Given the description of an element on the screen output the (x, y) to click on. 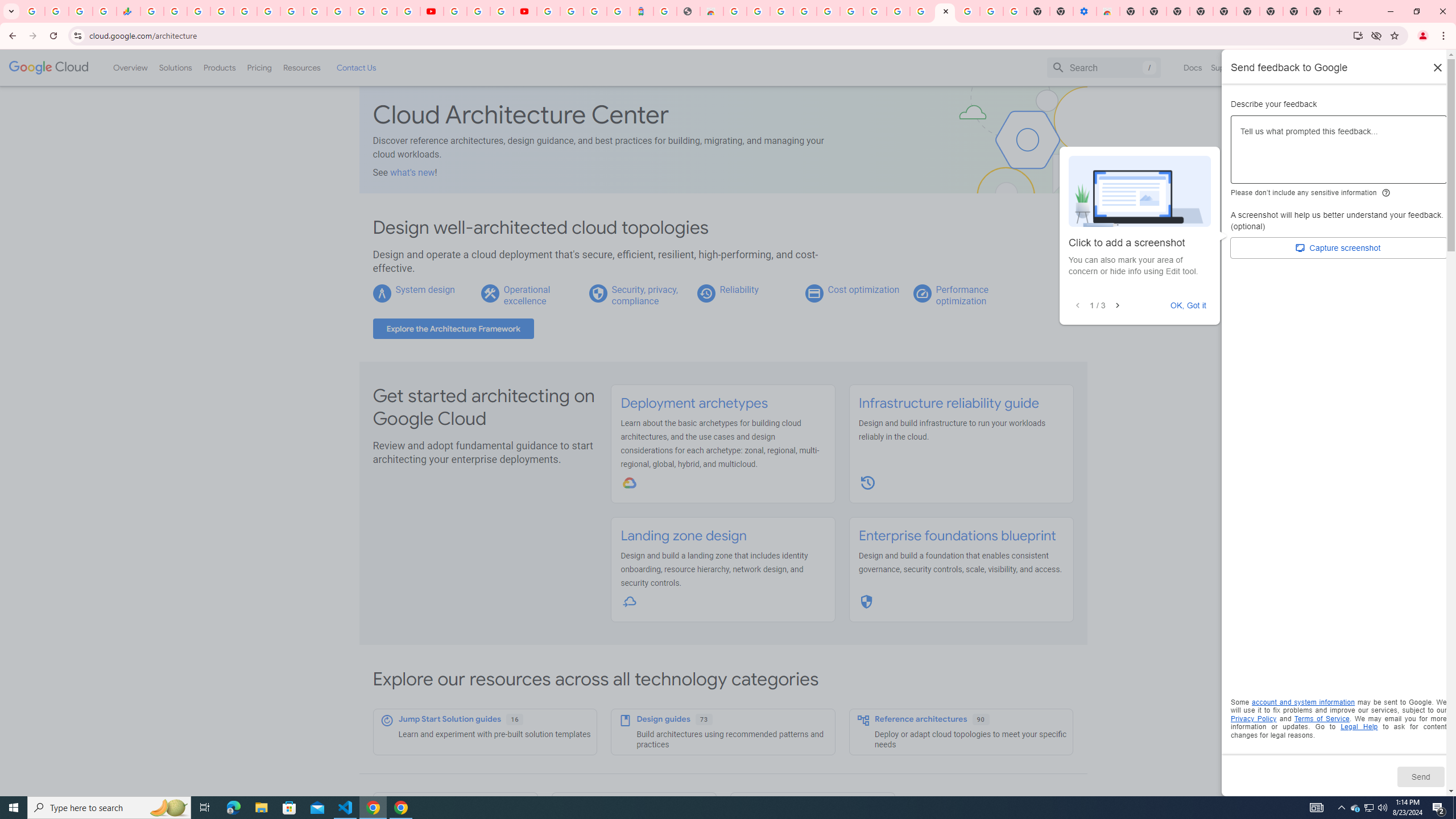
Operational excellence (526, 295)
New Tab (1131, 11)
Create your Google Account (757, 11)
Landing zone design (683, 535)
Sign in - Google Accounts (571, 11)
YouTube (454, 11)
Security, privacy, compliance (644, 295)
New Tab (1271, 11)
Ad Settings (804, 11)
Send (1420, 776)
